Given the description of an element on the screen output the (x, y) to click on. 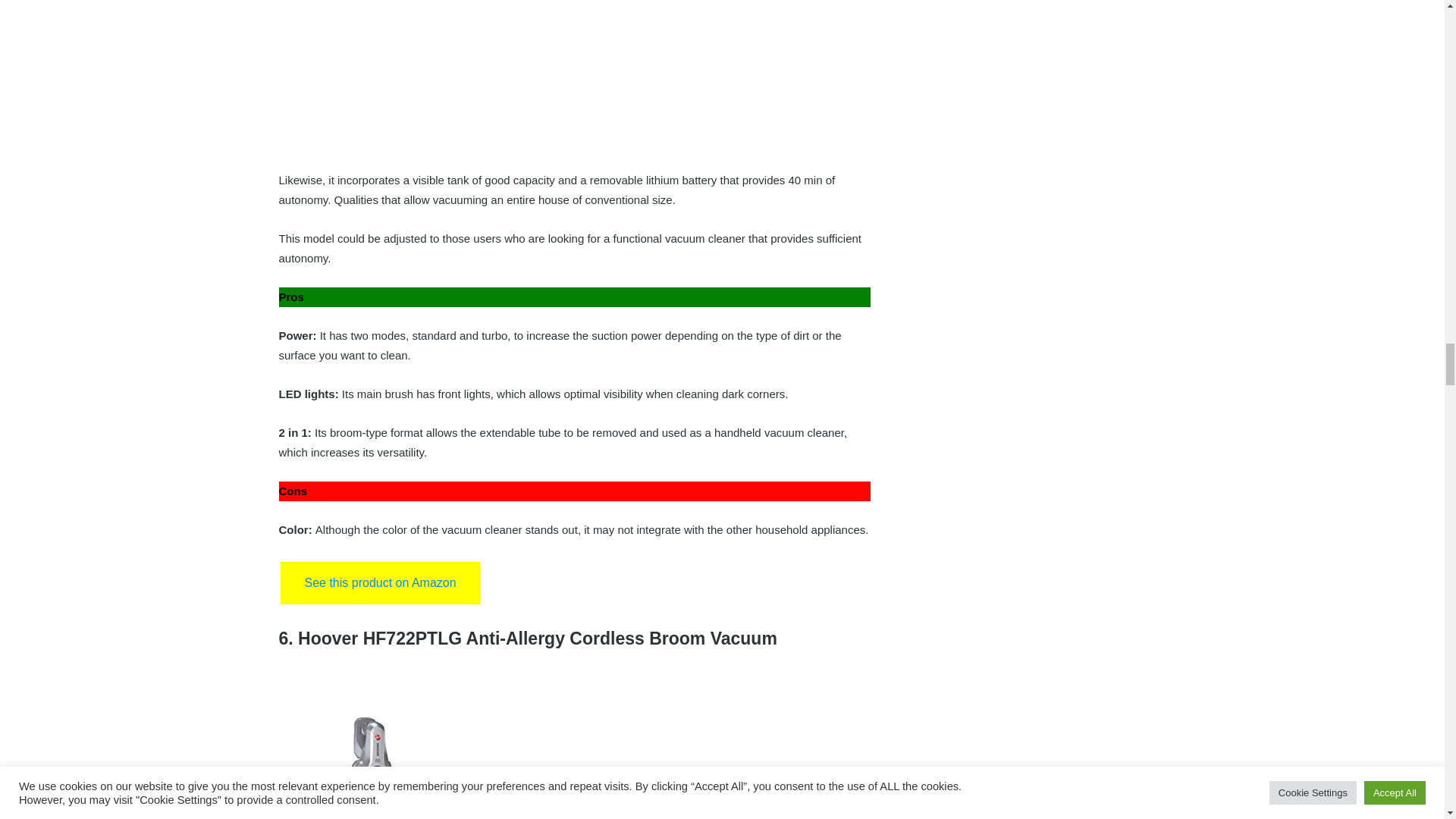
See this product on Amazon (380, 582)
